Given the description of an element on the screen output the (x, y) to click on. 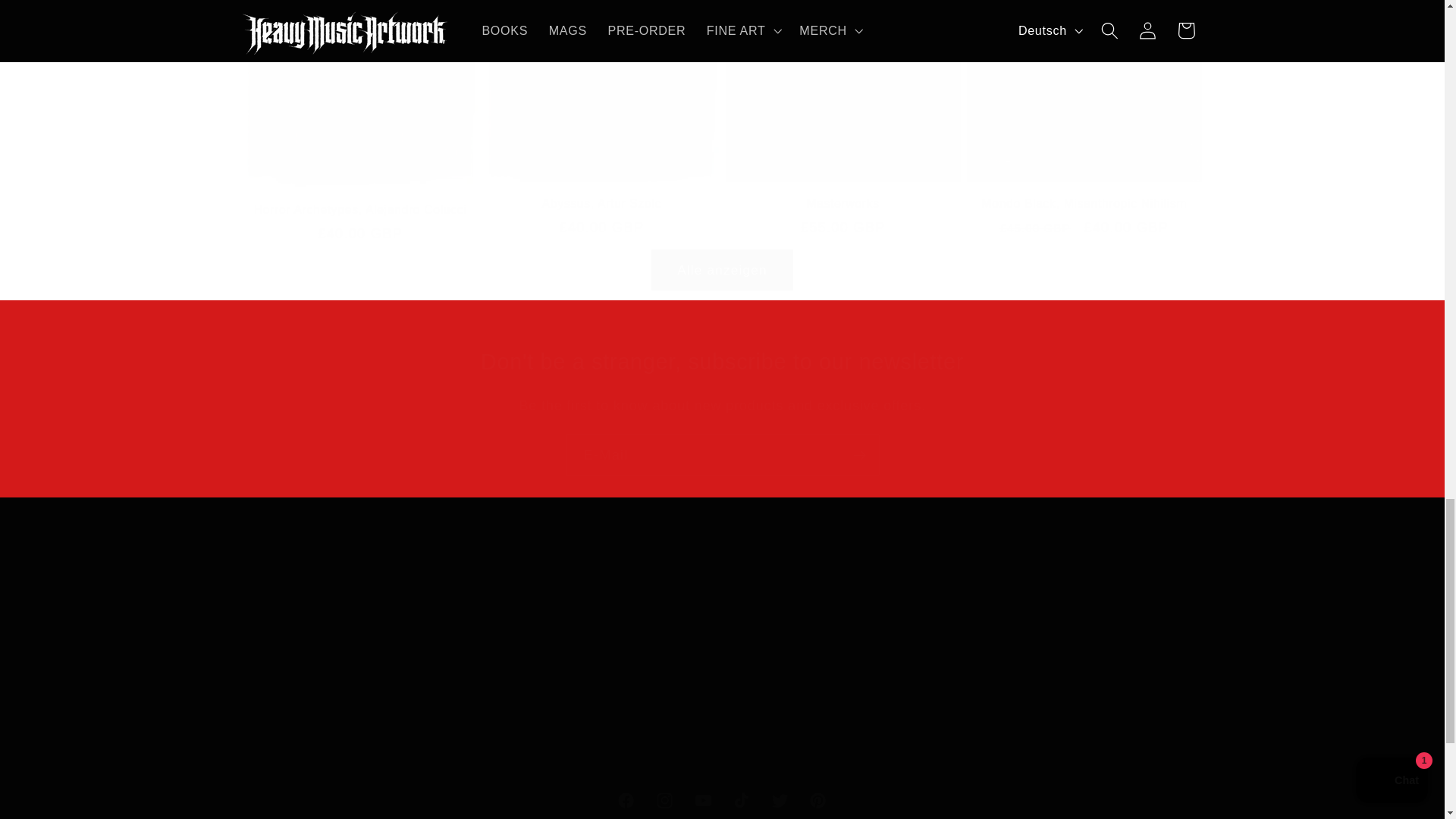
Don't be a stranger, subscribe to our newsletter (722, 800)
E-Mail (722, 361)
